Given the description of an element on the screen output the (x, y) to click on. 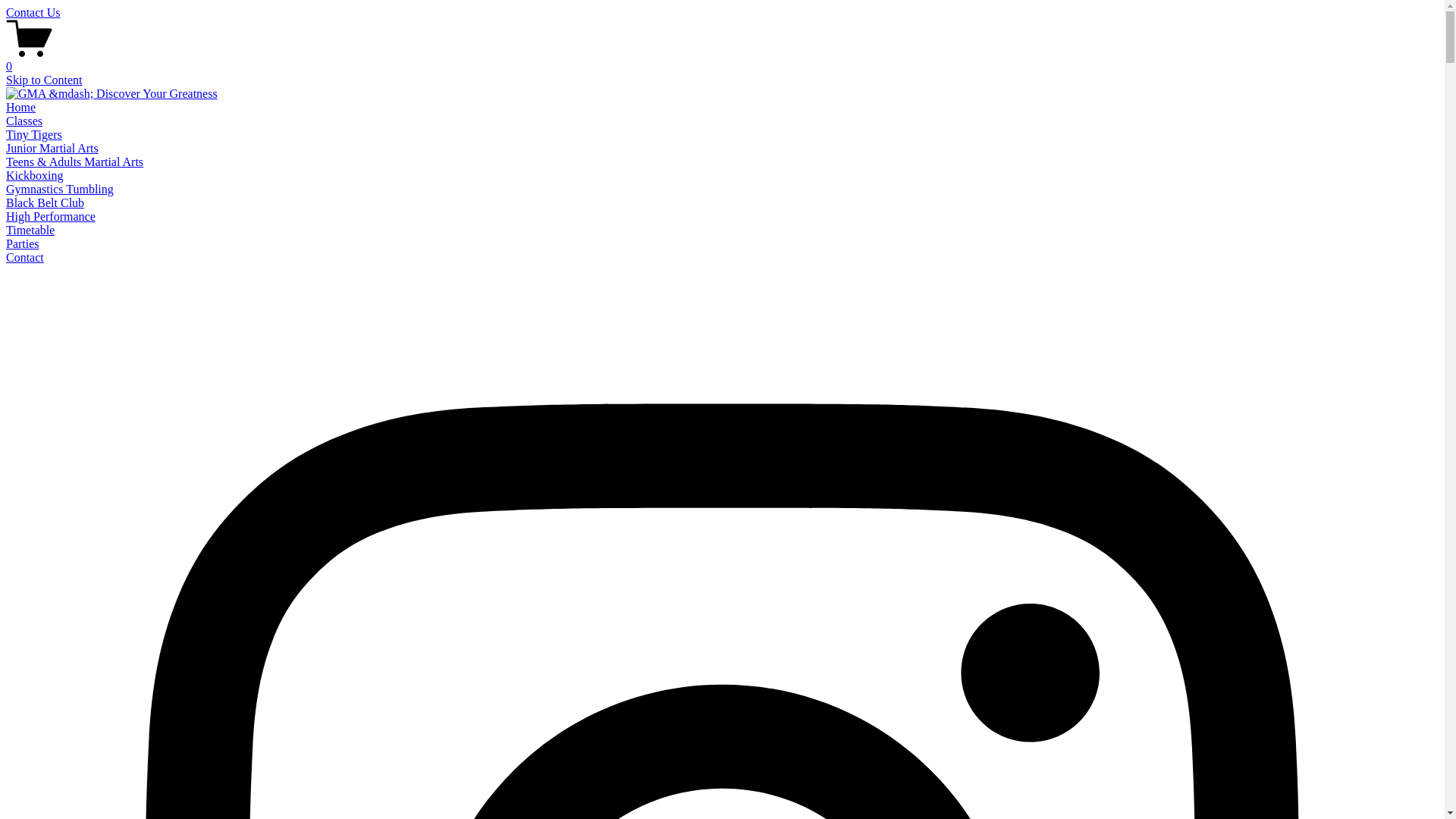
Timetable Element type: text (30, 229)
Classes Element type: text (24, 120)
Skip to Content Element type: text (43, 79)
Junior Martial Arts Element type: text (52, 147)
Teens & Adults Martial Arts Element type: text (74, 161)
Contact Element type: text (24, 257)
High Performance Element type: text (50, 216)
Home Element type: text (20, 106)
Gymnastics Tumbling Element type: text (59, 188)
Black Belt Club Element type: text (45, 202)
Tiny Tigers Element type: text (34, 134)
Parties Element type: text (22, 243)
Kickboxing Element type: text (34, 175)
0 Element type: text (722, 59)
Contact Us Element type: text (722, 12)
